Given the description of an element on the screen output the (x, y) to click on. 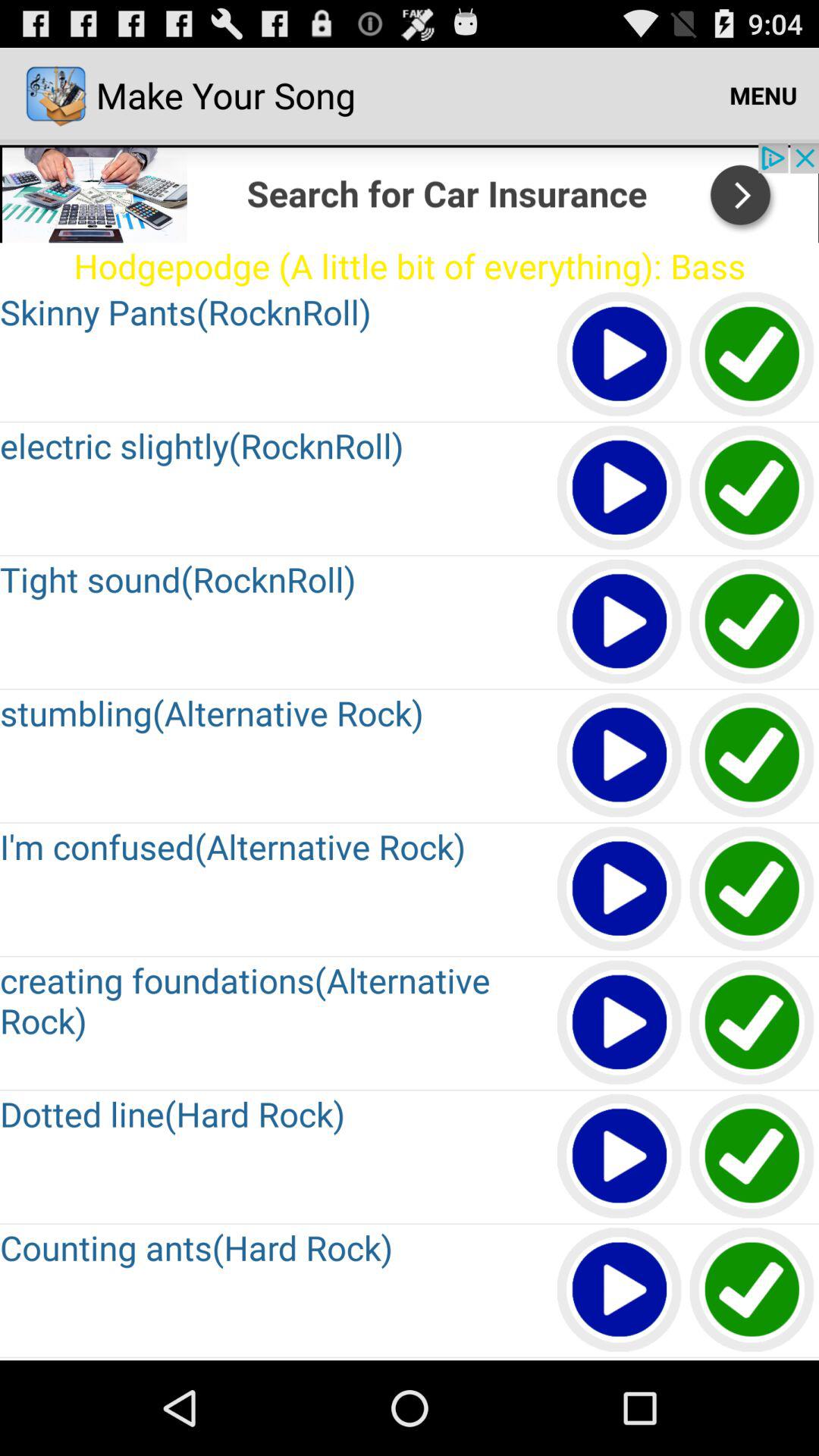
shows right click icon (752, 354)
